Given the description of an element on the screen output the (x, y) to click on. 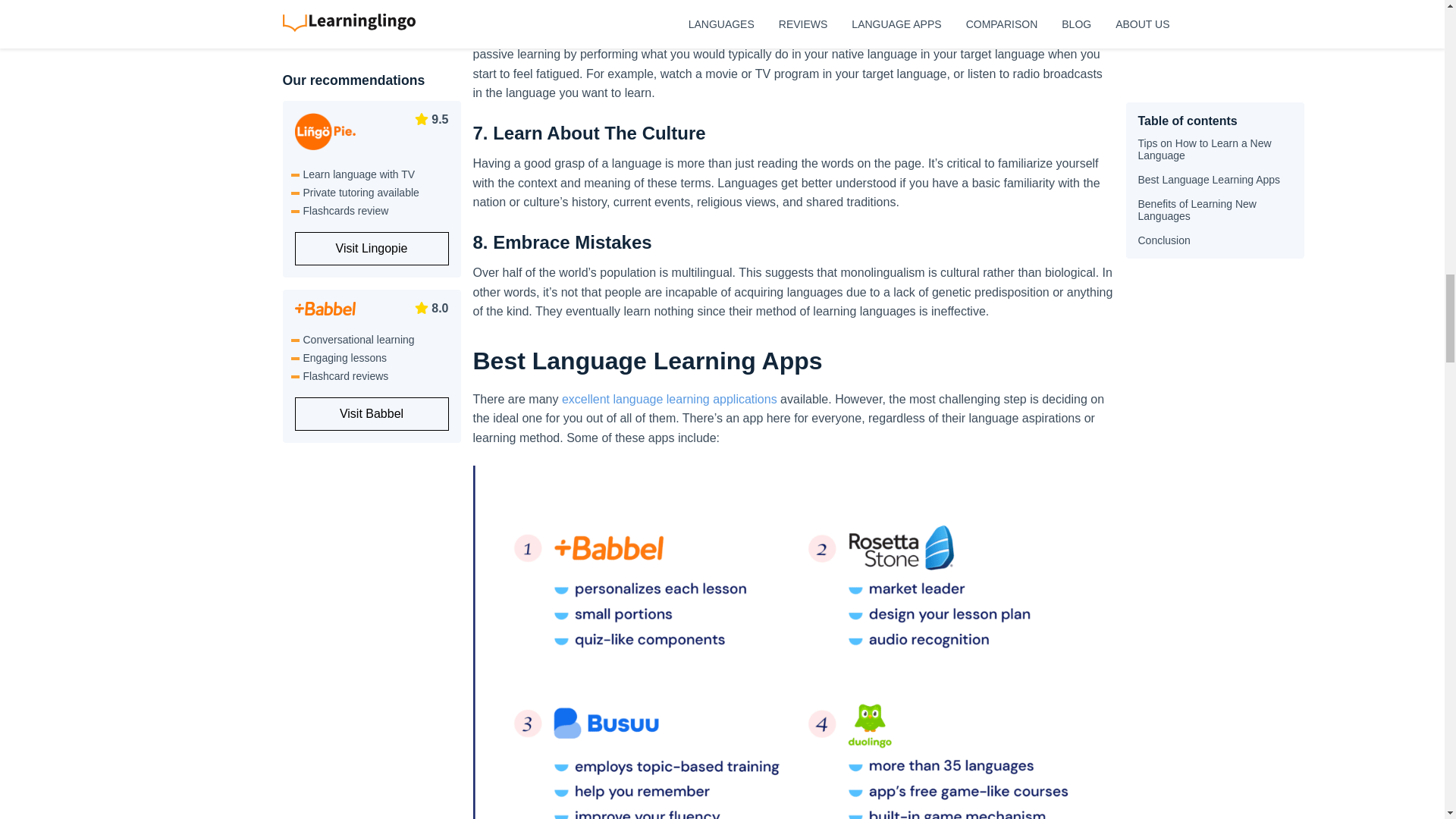
excellent language learning applications (669, 399)
